Given the description of an element on the screen output the (x, y) to click on. 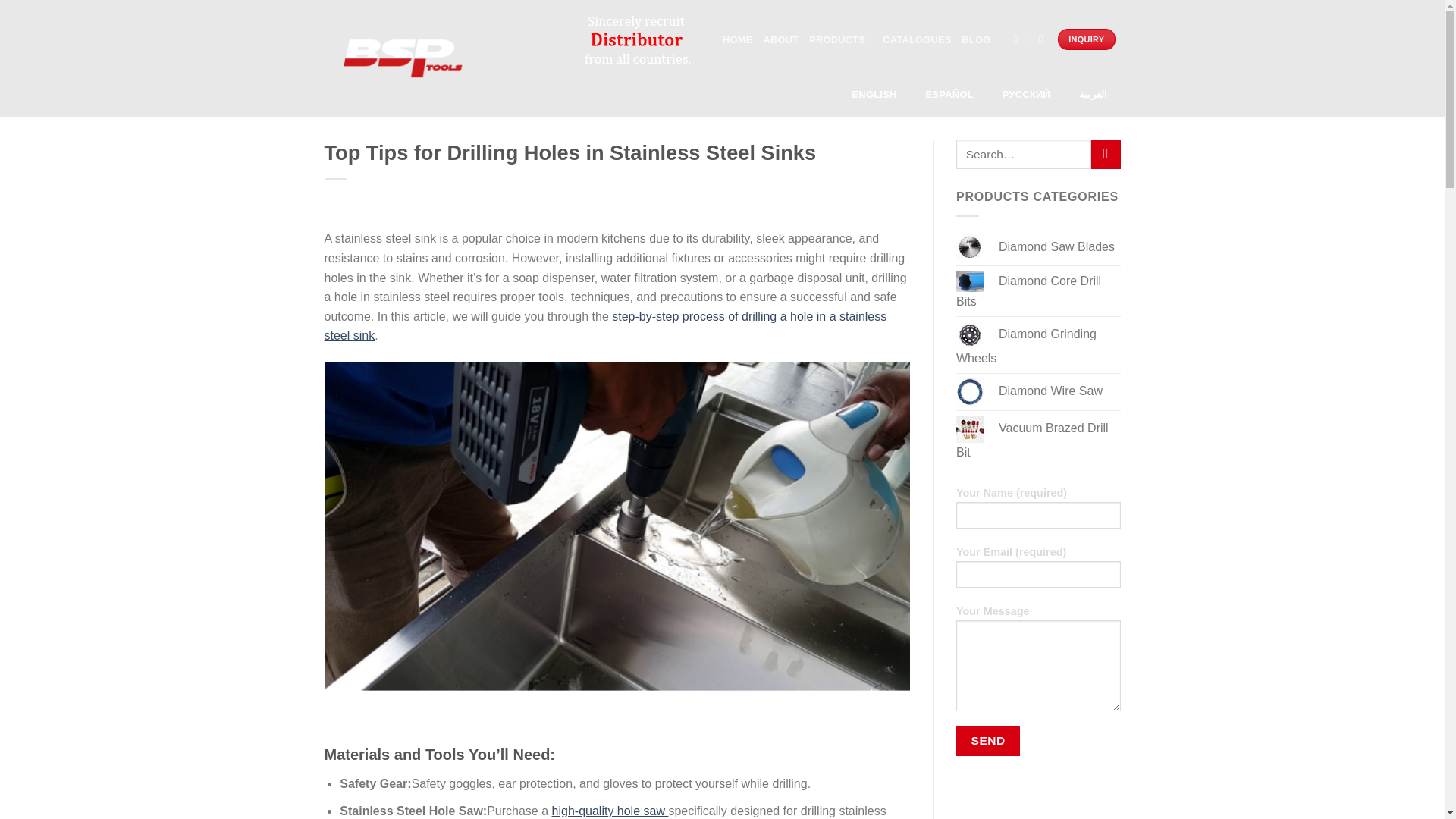
BSP Diamond Tools manufacturer (401, 58)
PRODUCTS (840, 39)
Send (988, 740)
HOME (737, 38)
ABOUT (779, 38)
